Given the description of an element on the screen output the (x, y) to click on. 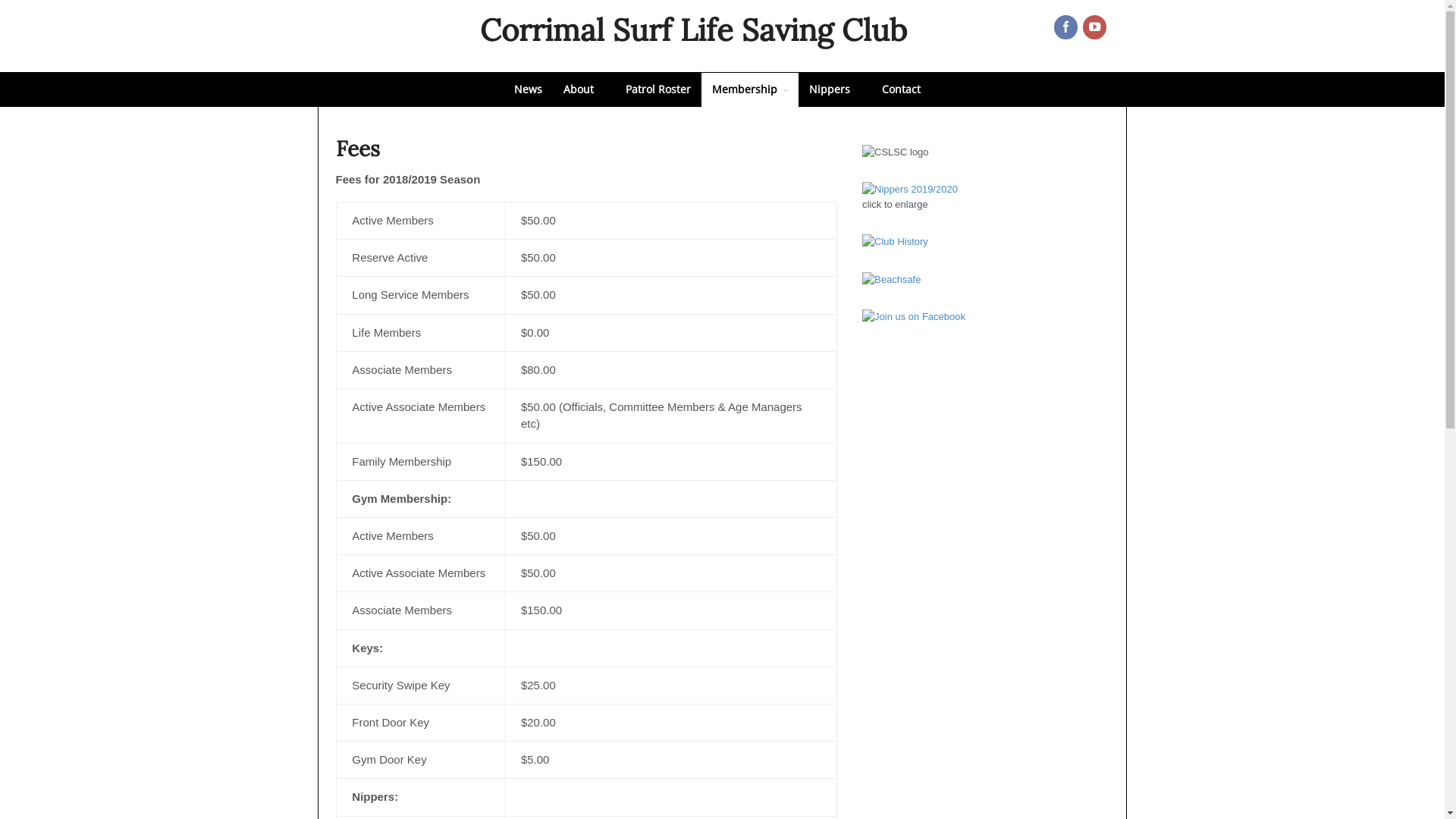
About Element type: text (583, 89)
Membership Element type: text (748, 89)
Facebook Element type: hover (1066, 27)
Corrimal Surf Life Saving Club Element type: text (692, 29)
Patrol Roster Element type: text (657, 89)
Contact Element type: text (900, 89)
YouTube Element type: hover (1095, 27)
Nippers Element type: text (833, 89)
News Element type: text (527, 89)
